Given the description of an element on the screen output the (x, y) to click on. 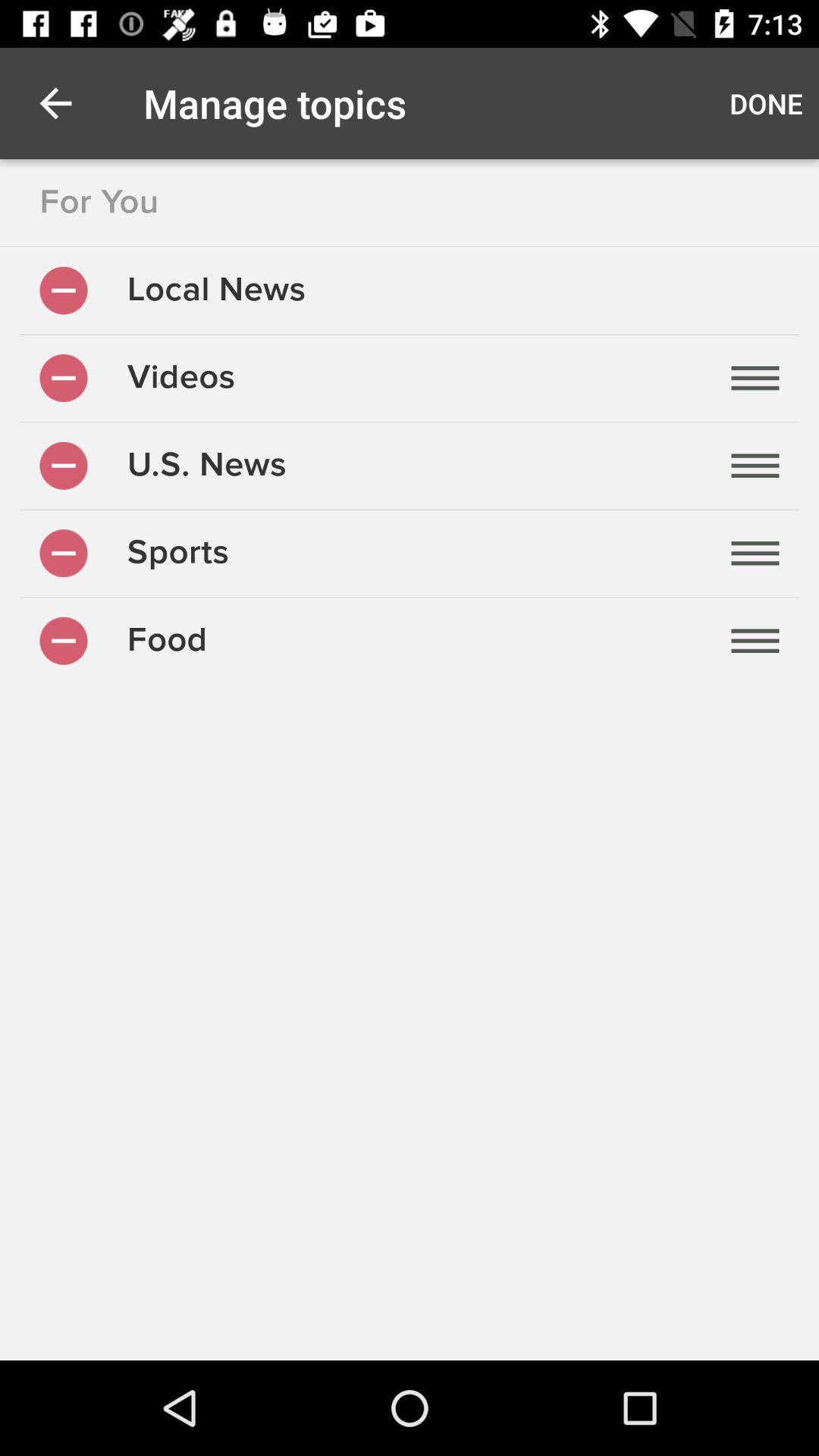
remove topic (63, 640)
